Given the description of an element on the screen output the (x, y) to click on. 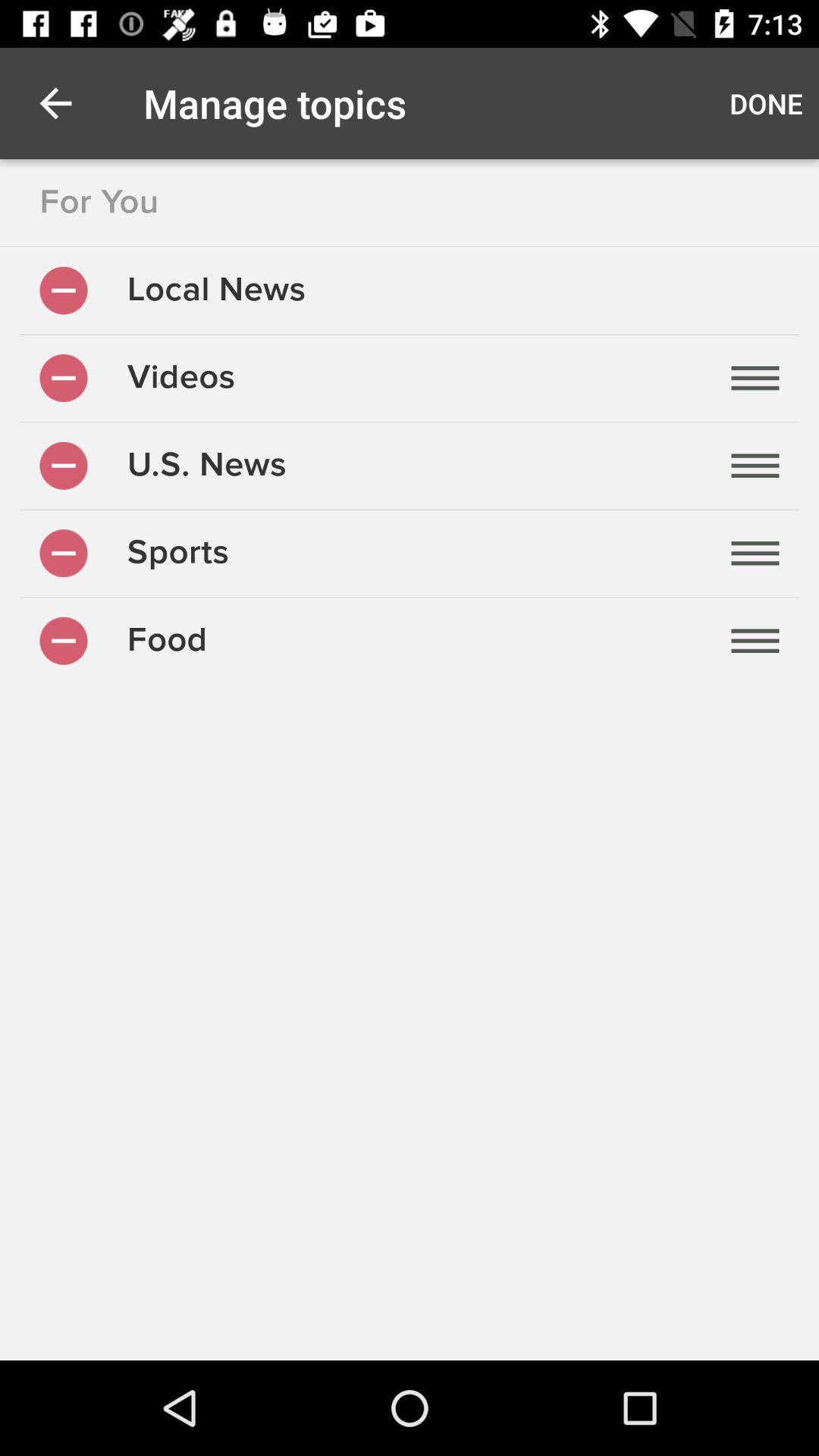
remove topic (63, 640)
